Given the description of an element on the screen output the (x, y) to click on. 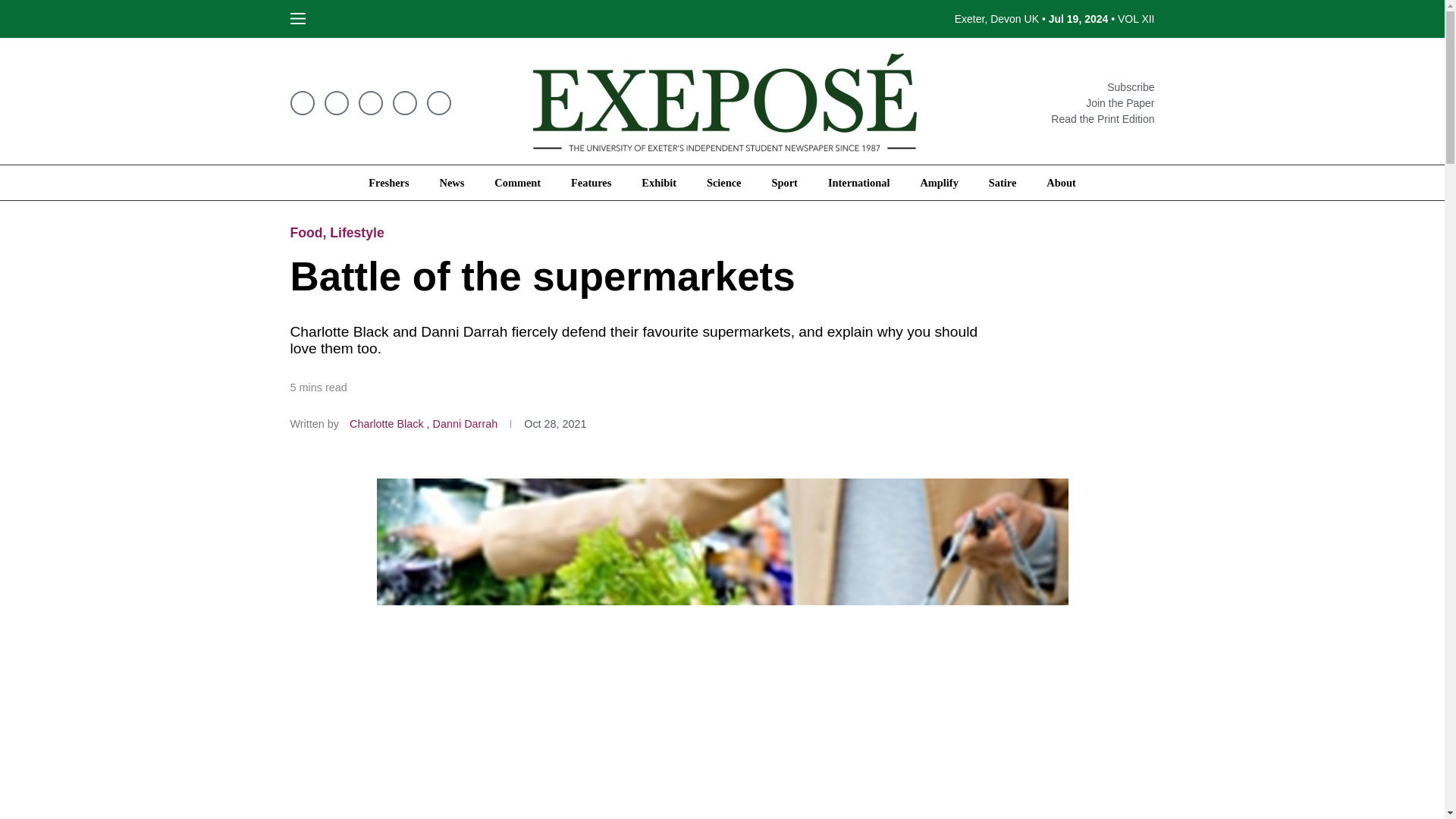
International (858, 182)
Subscribe (1102, 87)
Freshers (388, 182)
Exhibit (658, 182)
Read the Print Edition (1102, 119)
Comment (517, 182)
About (1060, 182)
Features (591, 182)
Sport (784, 182)
Science (724, 182)
Amplify (938, 182)
Satire (1003, 182)
News (452, 182)
Join the Paper (1102, 102)
